Given the description of an element on the screen output the (x, y) to click on. 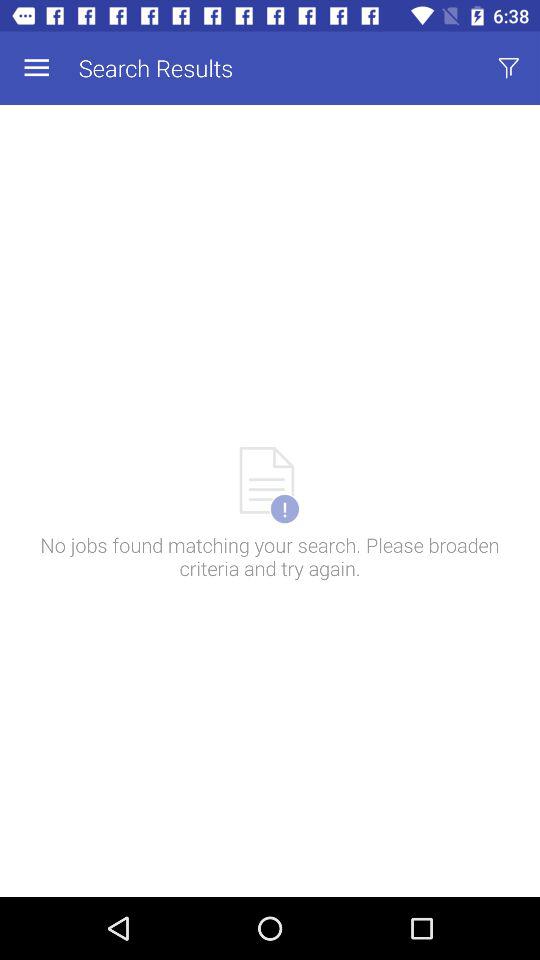
turn off the icon above the no jobs found (508, 67)
